Given the description of an element on the screen output the (x, y) to click on. 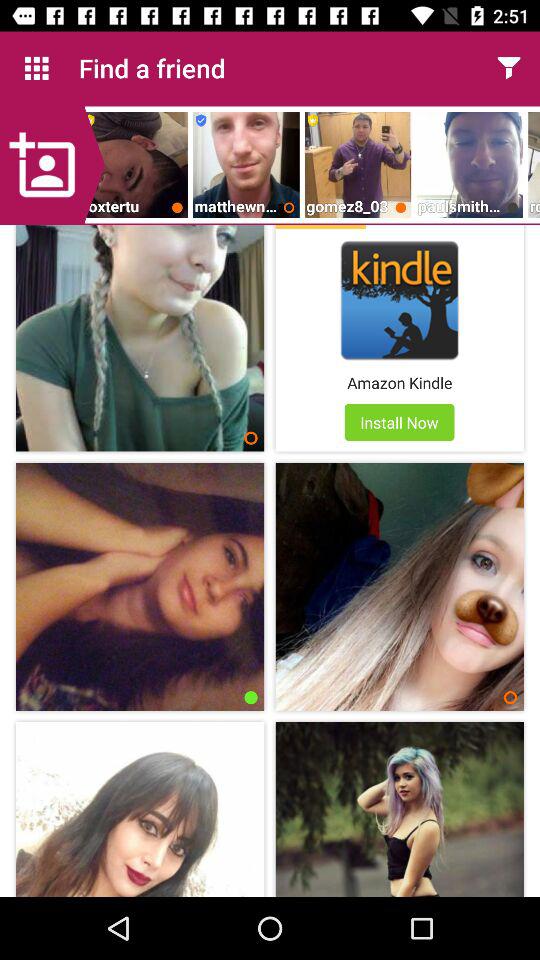
press the icon next to the find a friend app (36, 68)
